Given the description of an element on the screen output the (x, y) to click on. 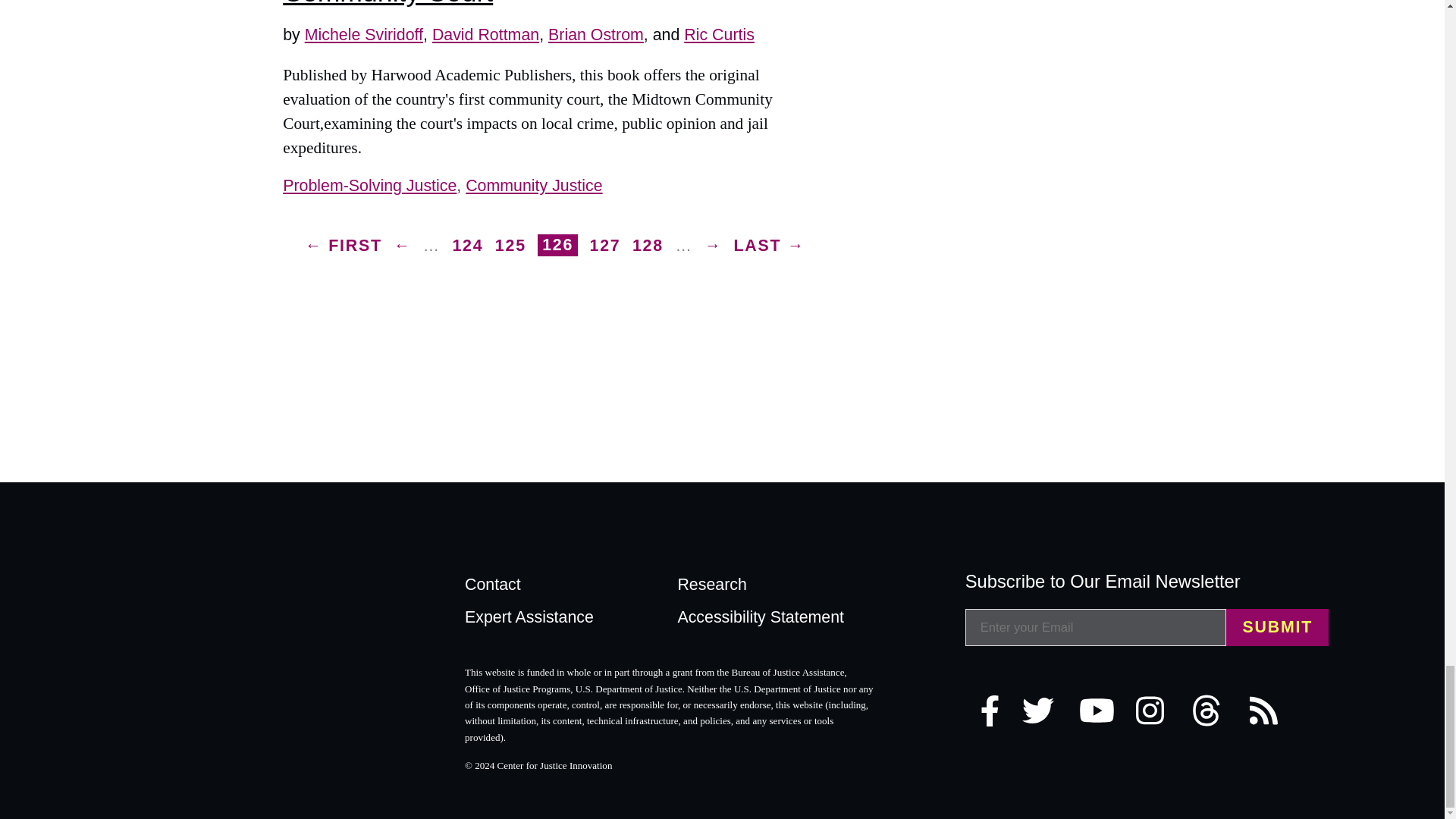
Twitter (1046, 710)
Current page (557, 245)
Home (350, 617)
Go to previous page (401, 244)
Go to first page (342, 244)
Go to page 127 (605, 244)
Instagram (1160, 710)
Contact an Expert (562, 621)
Submit (1276, 627)
Accessibility Statement (775, 621)
